Given the description of an element on the screen output the (x, y) to click on. 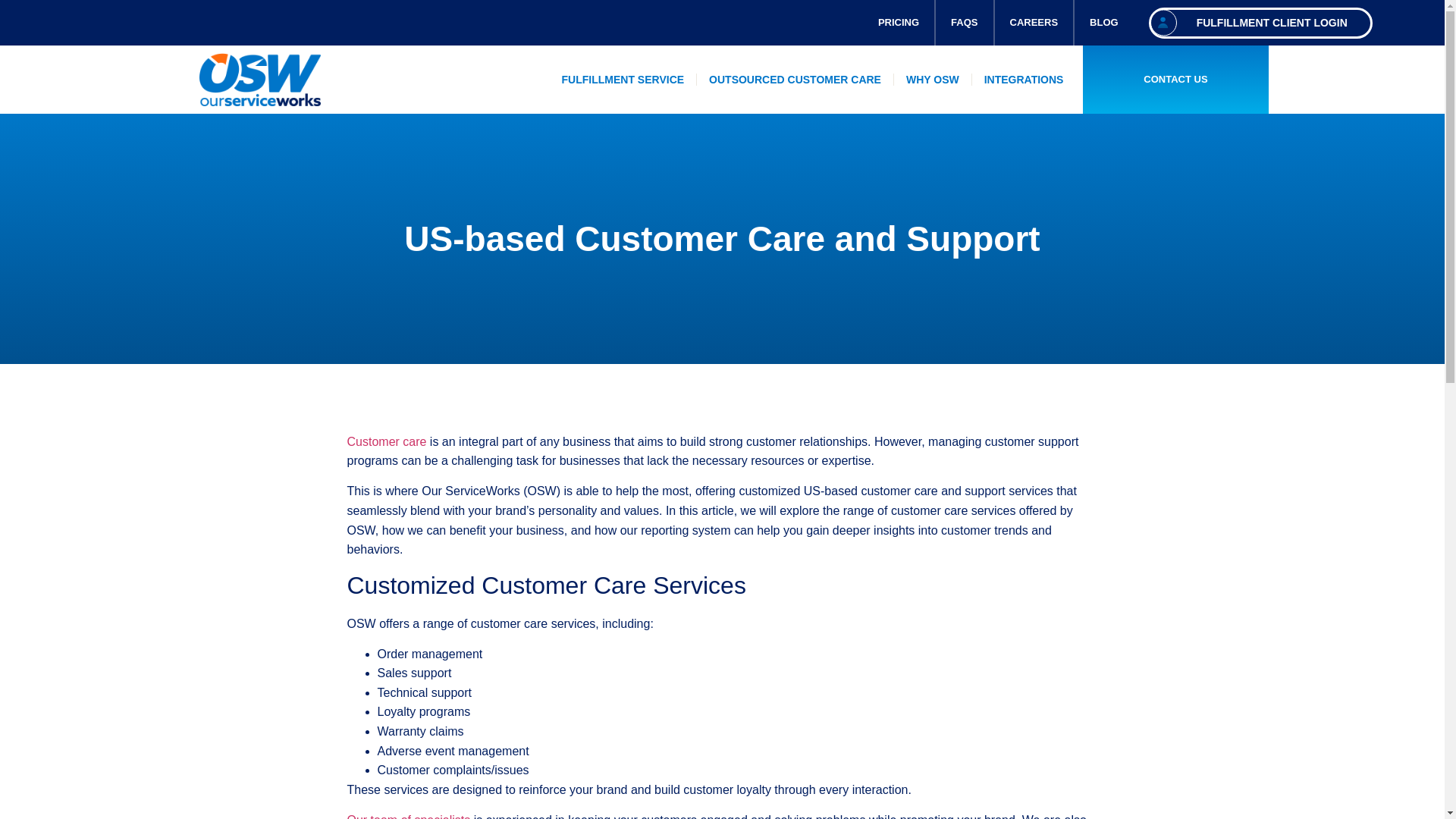
OUTSOURCED CUSTOMER CARE (795, 79)
WHY OSW (932, 79)
PRICING (898, 22)
INTEGRATIONS (1023, 79)
FULFILLMENT SERVICE (623, 79)
FAQS (964, 22)
Our team of specialists (408, 816)
CAREERS (1034, 22)
BLOG (1104, 22)
Customer care (386, 440)
